Given the description of an element on the screen output the (x, y) to click on. 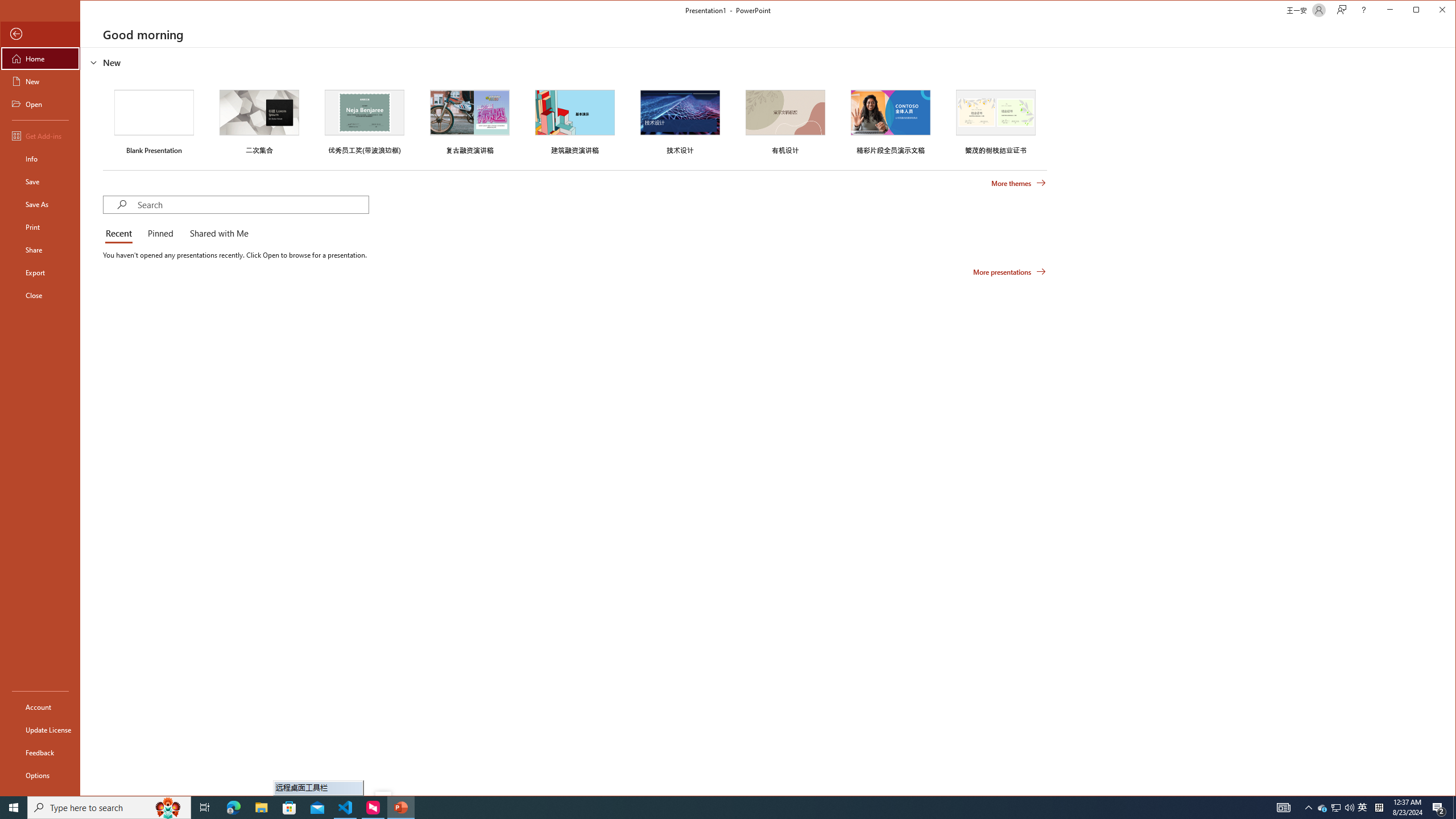
Options (40, 775)
Export (40, 272)
Pinned (160, 234)
More themes (1018, 183)
